Given the description of an element on the screen output the (x, y) to click on. 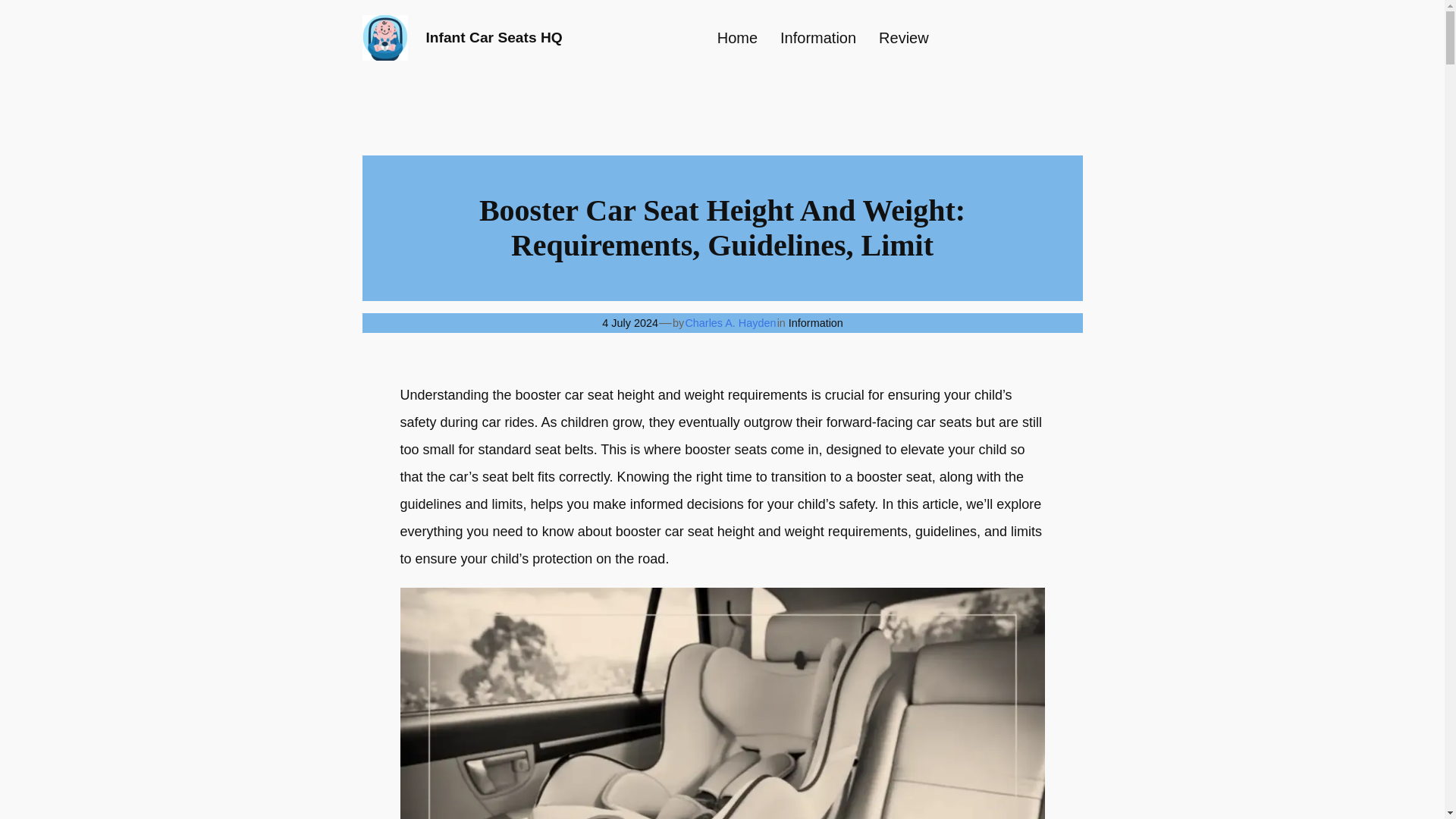
Information (816, 322)
Review (903, 37)
Information (818, 37)
Infant Car Seats HQ (494, 37)
Charles A. Hayden (730, 322)
